Given the description of an element on the screen output the (x, y) to click on. 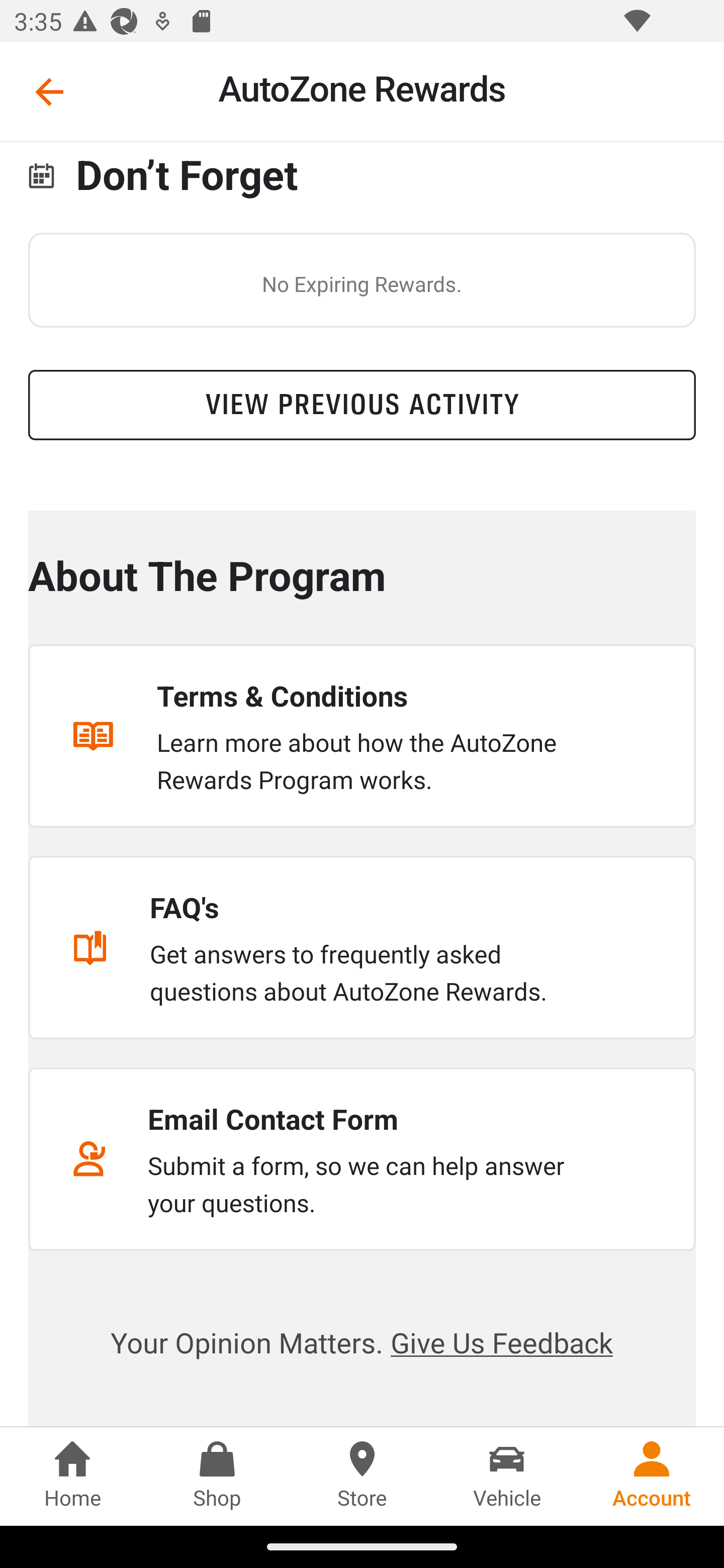
back-button  (49, 91)
VIEW PREVIOUS ACTIVITY (361, 405)
Home (72, 1475)
Shop (216, 1475)
Store (361, 1475)
Vehicle (506, 1475)
Account (651, 1475)
